Given the description of an element on the screen output the (x, y) to click on. 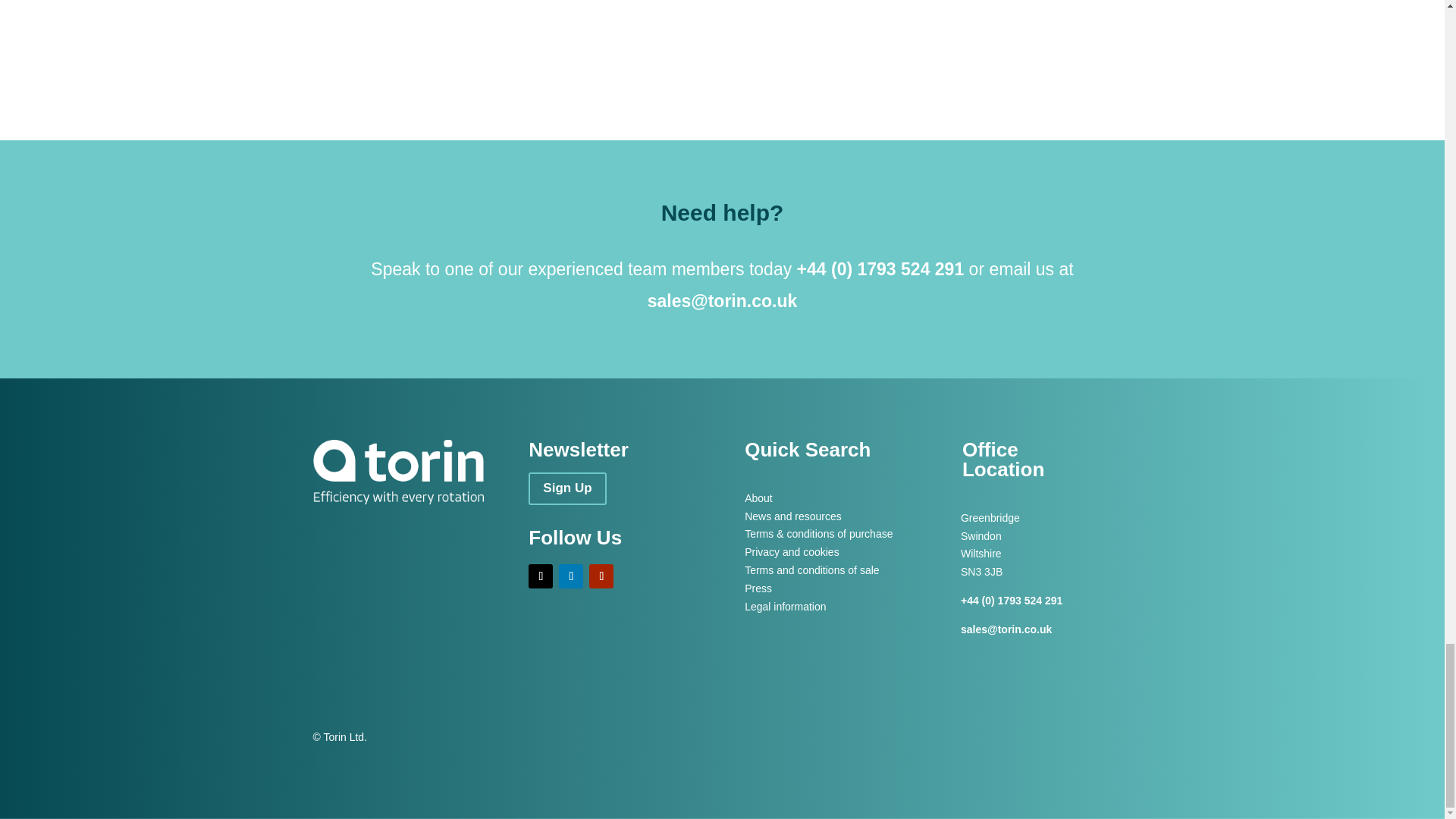
Credentials - EC (434, 39)
Credentials - ErP (720, 39)
Follow on X (540, 576)
Credentials - EVIA (1009, 39)
Torin-Logo-with-Strapline---White (398, 472)
